Given the description of an element on the screen output the (x, y) to click on. 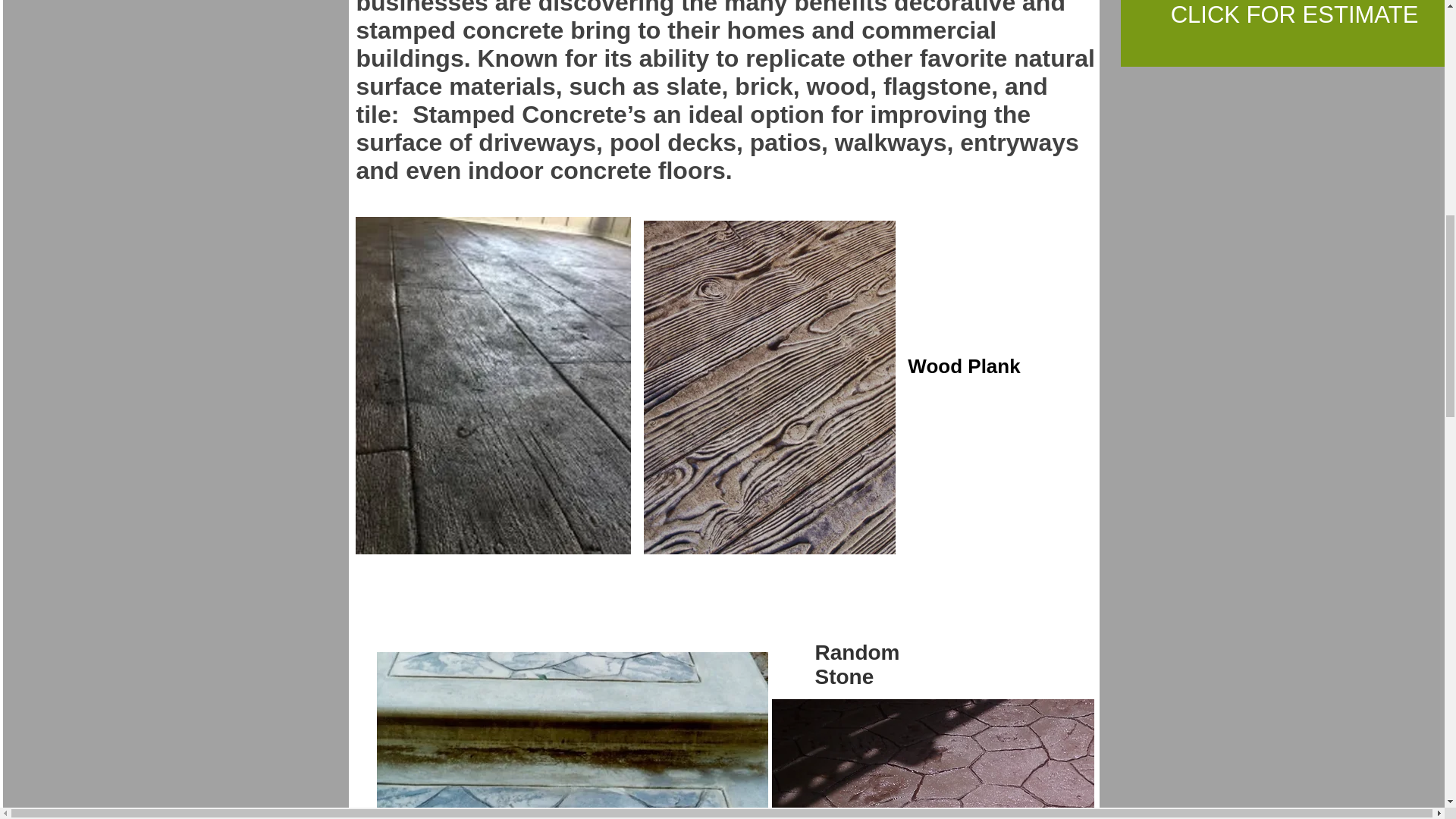
2013-06-13 14.11.03.JPG (932, 759)
